Given the description of an element on the screen output the (x, y) to click on. 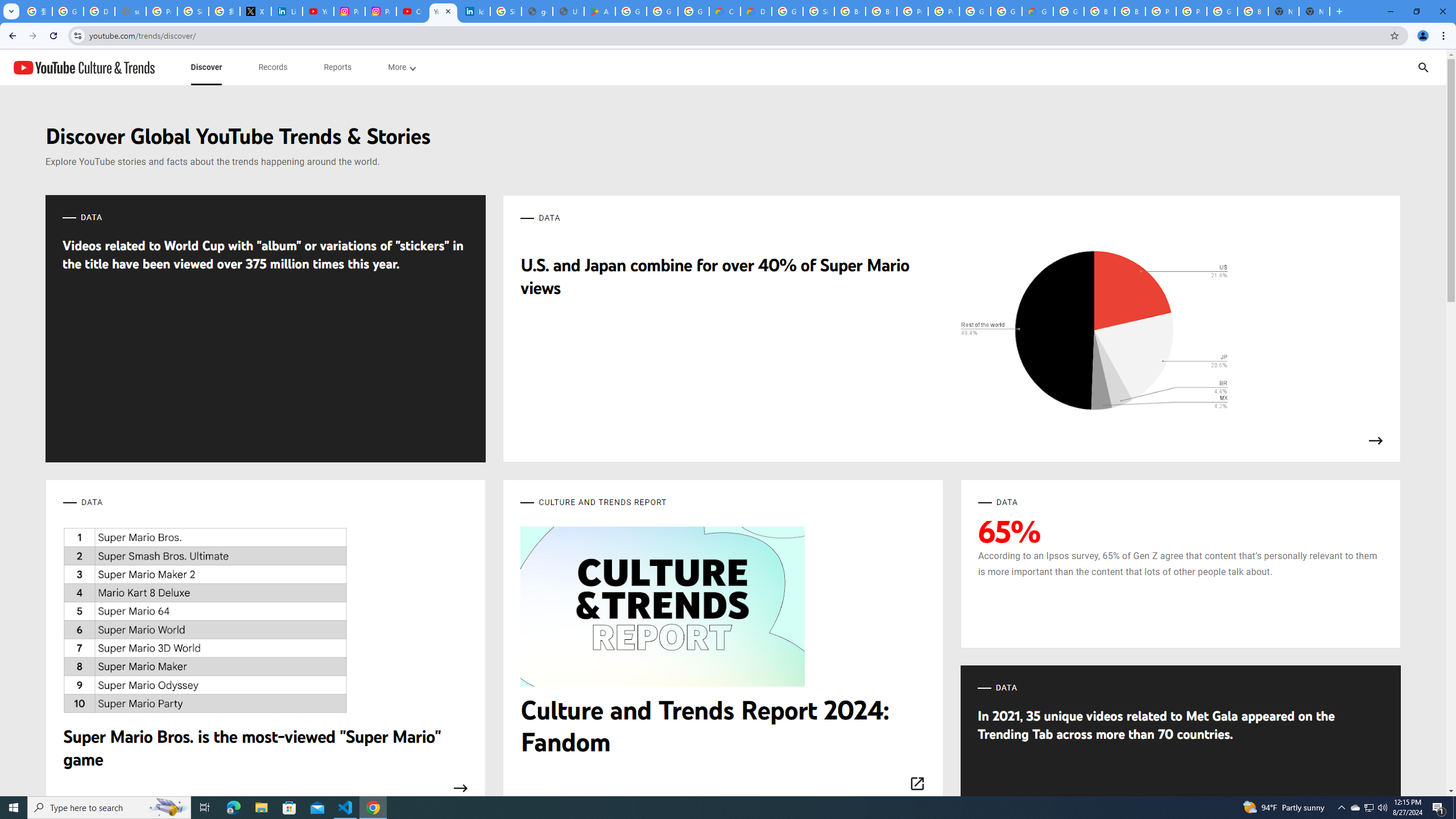
Google Cloud Platform (787, 11)
subnav-Records menupopup (272, 67)
subnav-Discover menupopup (206, 67)
User Details (568, 11)
subnav-Records menupopup (272, 67)
subnav-Discover menupopup (205, 67)
subnav-Reports menupopup (337, 67)
Browse Chrome as a guest - Computer - Google Chrome Help (881, 11)
